Given the description of an element on the screen output the (x, y) to click on. 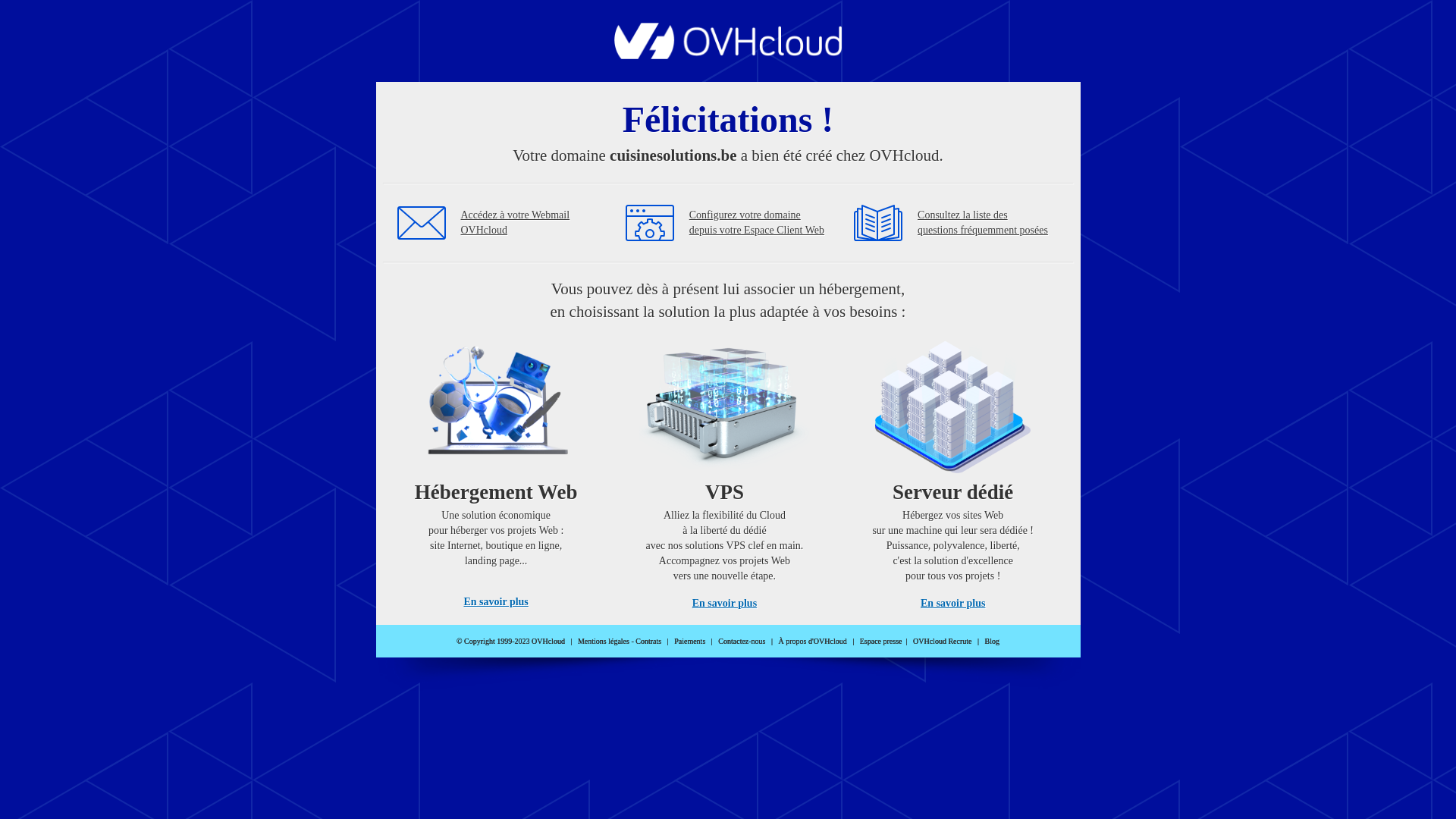
En savoir plus Element type: text (724, 602)
En savoir plus Element type: text (495, 601)
Paiements Element type: text (689, 641)
VPS Element type: hover (724, 469)
OVHcloud Element type: hover (727, 54)
Blog Element type: text (992, 641)
OVHcloud Recrute Element type: text (942, 641)
Configurez votre domaine
depuis votre Espace Client Web Element type: text (756, 222)
Espace presse Element type: text (880, 641)
En savoir plus Element type: text (952, 602)
Contactez-nous Element type: text (741, 641)
